Given the description of an element on the screen output the (x, y) to click on. 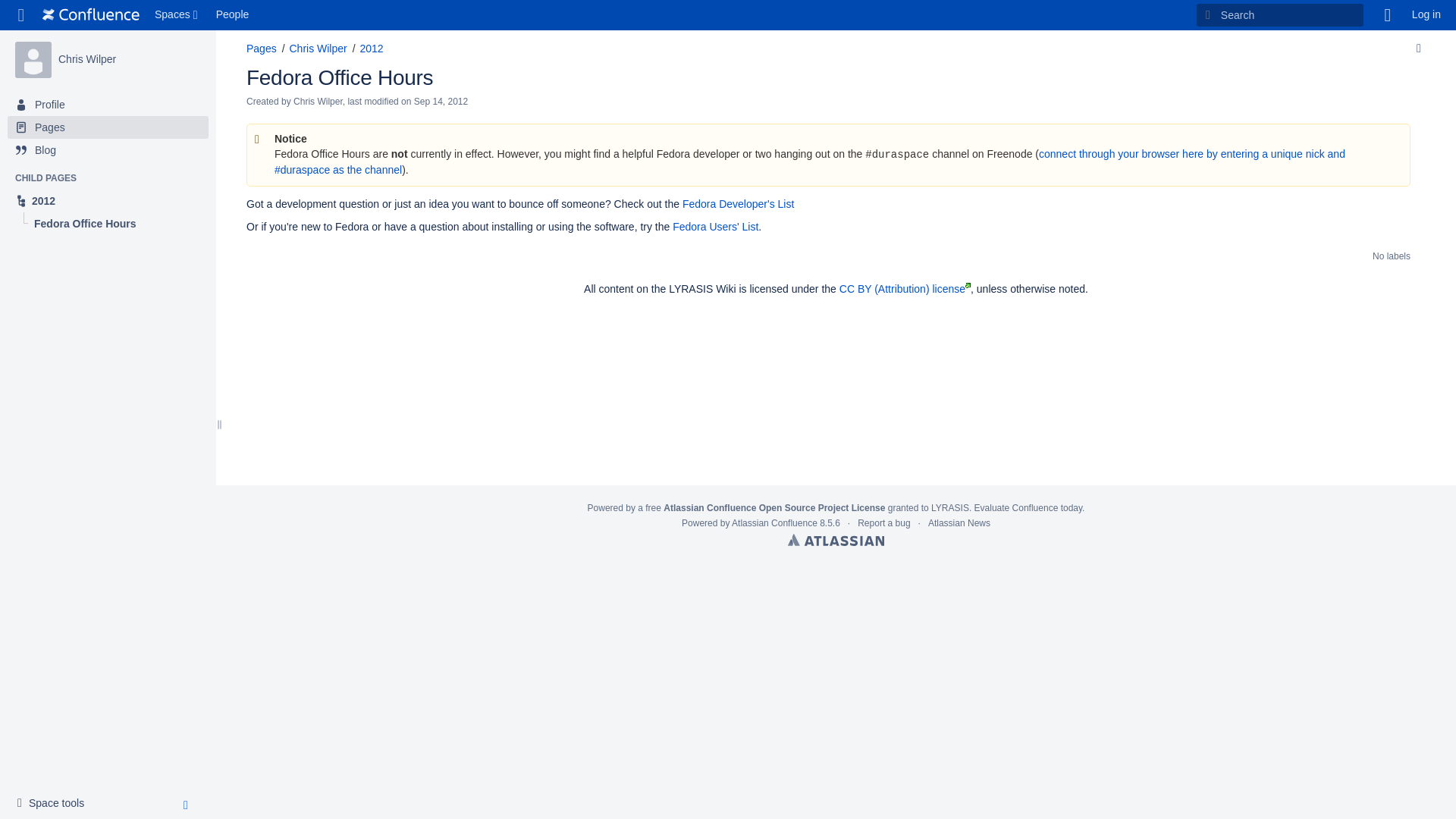
Chris Wilper (32, 59)
Help (1388, 15)
Chris Wilper (87, 59)
Help (1388, 15)
2012 (107, 200)
2012 (107, 200)
People (232, 15)
Profile (107, 104)
Pages (107, 127)
